Given the description of an element on the screen output the (x, y) to click on. 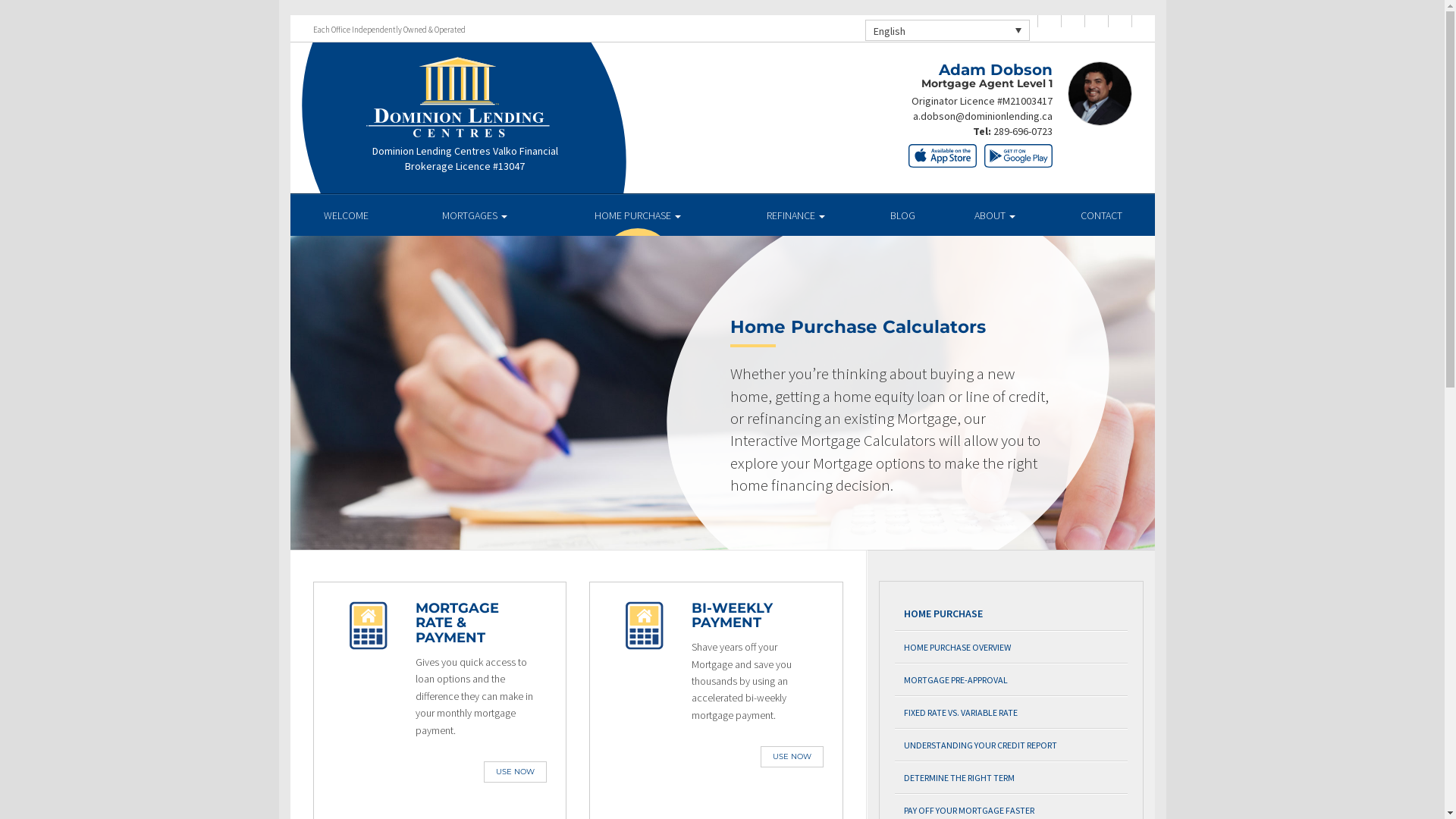
WELCOME Element type: text (345, 214)
289-696-0723 Element type: text (1022, 131)
FIXED RATE VS. VARIABLE RATE Element type: text (1010, 712)
USE NOW Element type: text (790, 756)
MORTGAGE PRE-APPROVAL Element type: text (1010, 679)
English Element type: text (946, 29)
USE NOW Element type: text (514, 771)
MORTGAGES Element type: text (474, 214)
HOME PURCHASE Element type: text (637, 214)
REFINANCE Element type: text (795, 214)
DETERMINE THE RIGHT TERM Element type: text (1010, 777)
HOME PURCHASE OVERVIEW Element type: text (1010, 646)
UNDERSTANDING YOUR CREDIT REPORT Element type: text (1010, 744)
ABOUT Element type: text (994, 214)
HOME PURCHASE Element type: text (1010, 613)
BLOG Element type: text (901, 214)
CONTACT Element type: text (1101, 214)
a.dobson@dominionlending.ca Element type: text (982, 115)
